Given the description of an element on the screen output the (x, y) to click on. 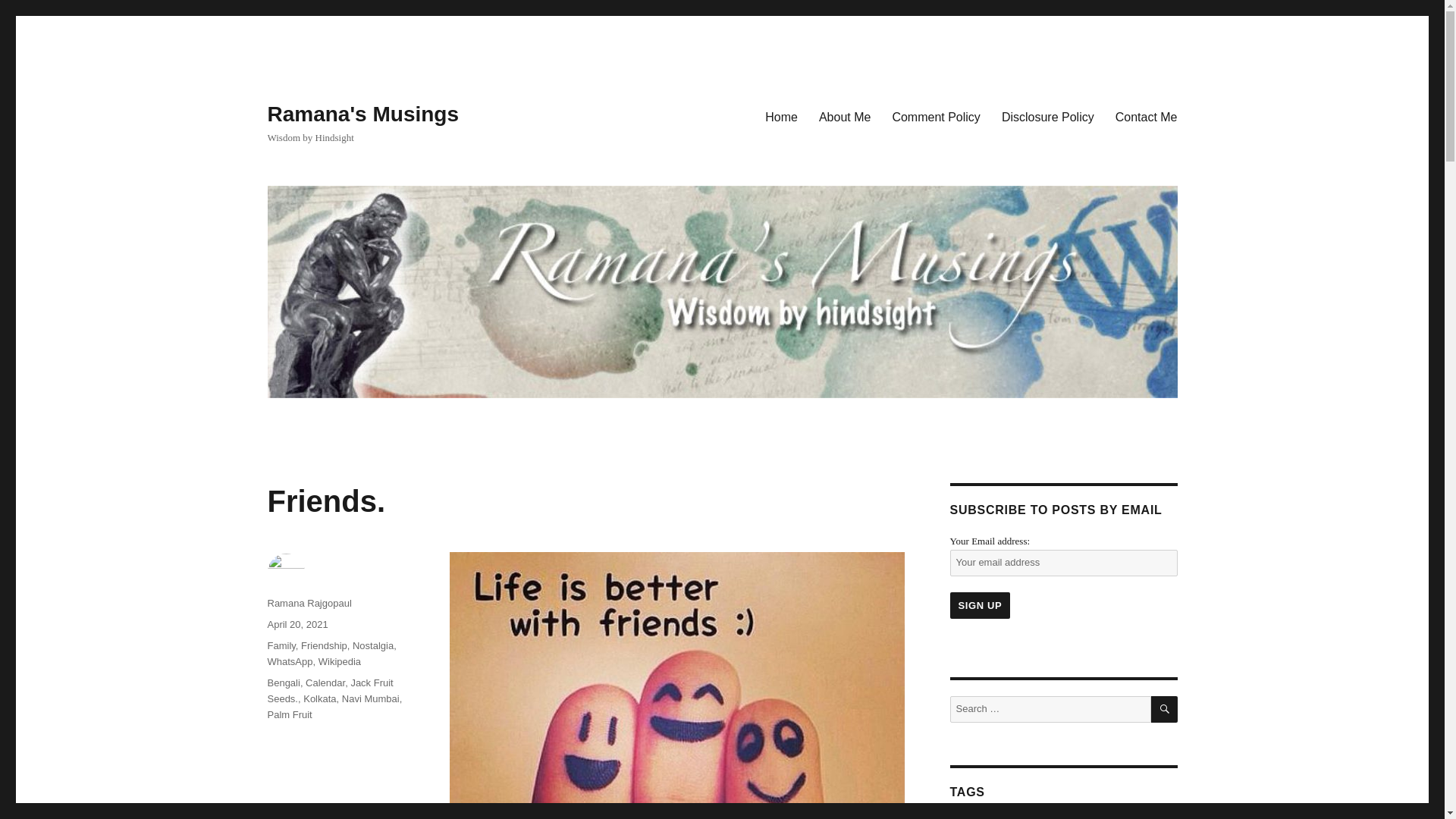
Jack Fruit Seeds. (329, 690)
Disclosure Policy (1048, 116)
Sign up (979, 605)
Calendar (325, 682)
Palm Fruit (288, 714)
Ajit Ninan (1080, 817)
Friendship (324, 645)
April 20, 2021 (296, 624)
Aging (967, 817)
Ramana's Musings (362, 114)
Contact Me (1146, 116)
Ahmedabad (1019, 817)
Nostalgia (372, 645)
Australia (1132, 817)
Sign up (979, 605)
